Given the description of an element on the screen output the (x, y) to click on. 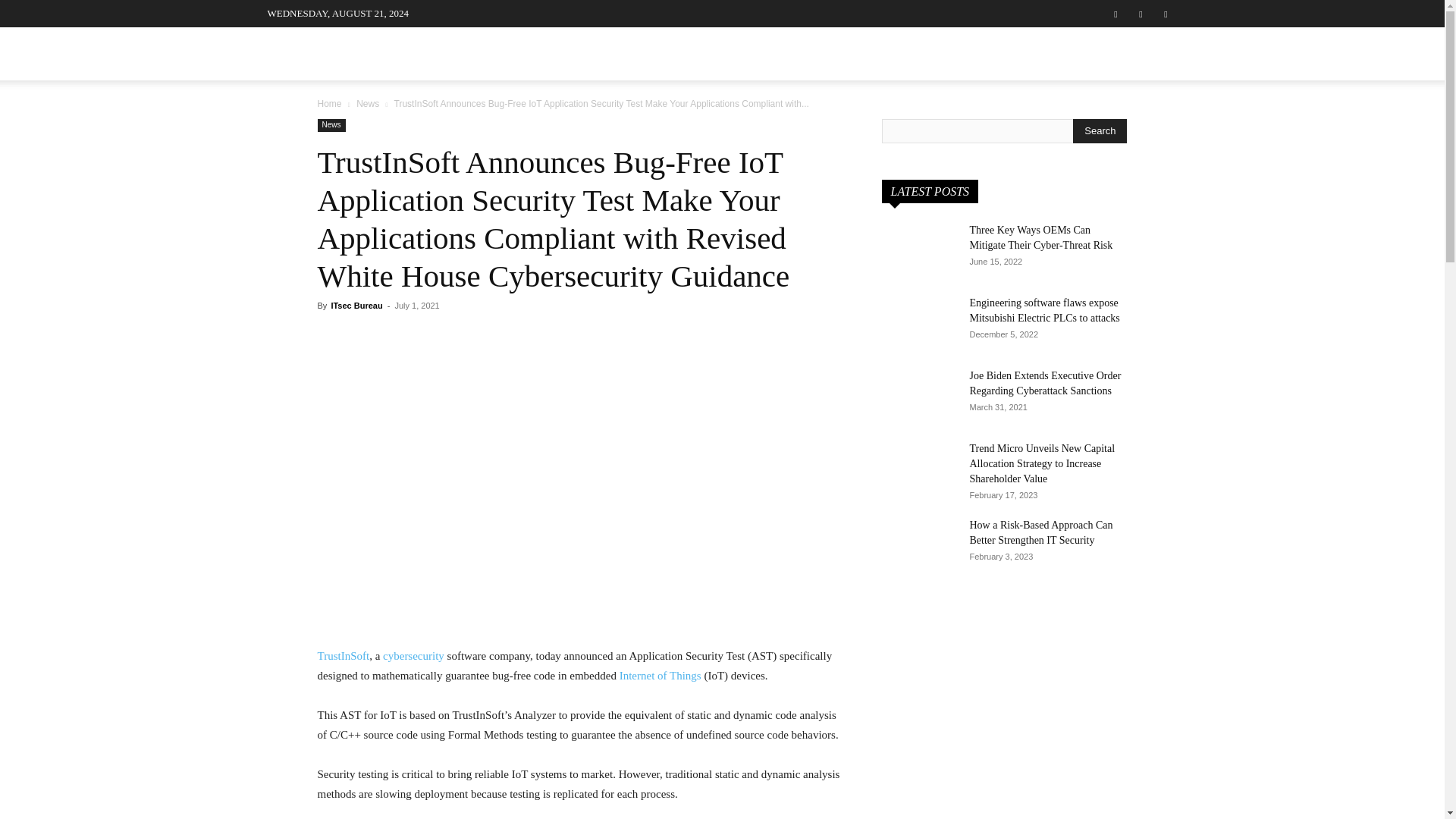
INTERVIEWS (519, 53)
ITSecurityWire (381, 57)
News (367, 103)
RESOURCES (984, 53)
ARTICLES (610, 53)
View all posts in News (367, 103)
QUICK BYTES (883, 53)
ITSECURITYWIRE FAVCON (381, 57)
Home (328, 103)
Search (1099, 130)
